Given the description of an element on the screen output the (x, y) to click on. 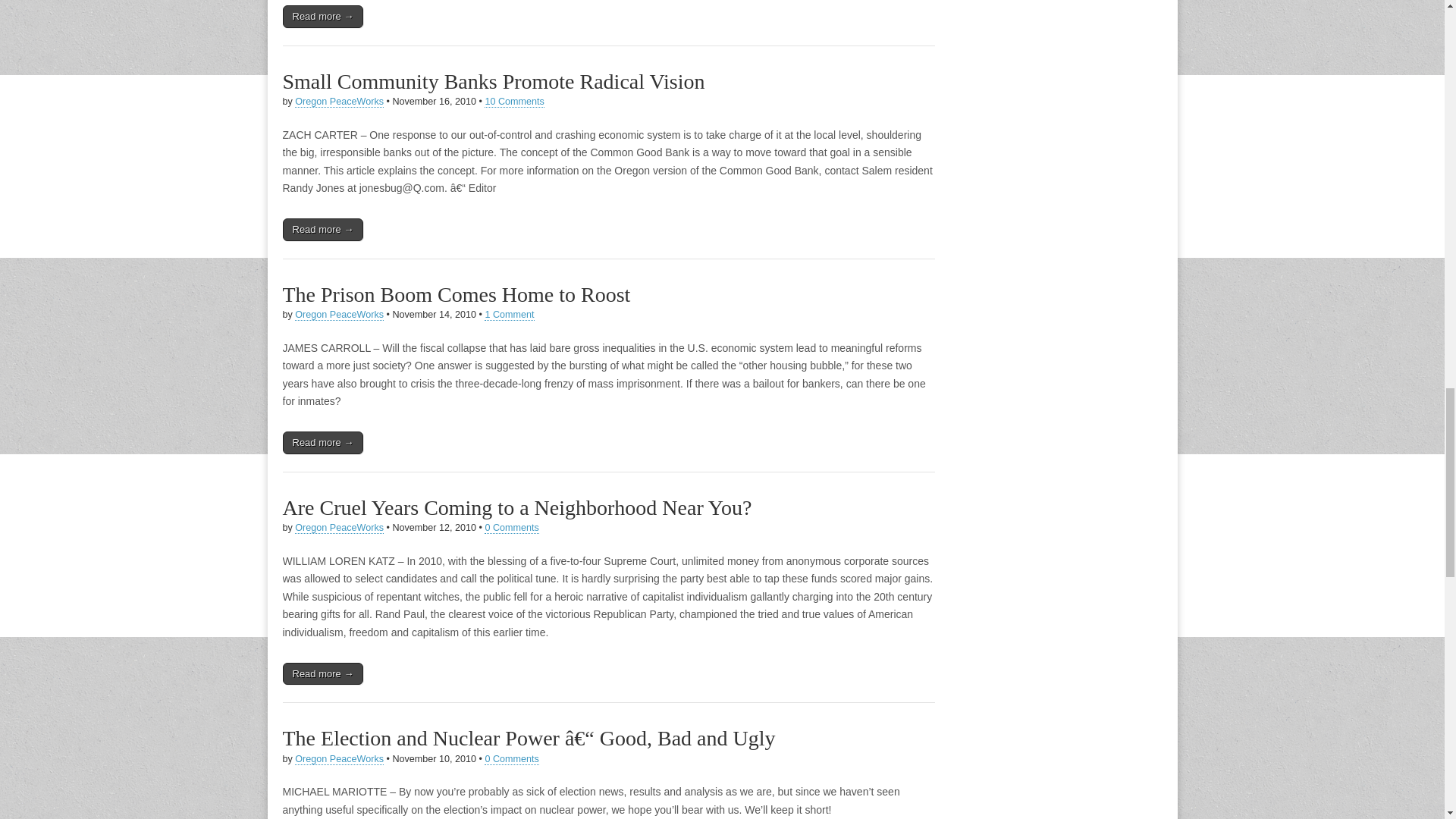
Posts by Oregon PeaceWorks (339, 758)
Posts by Oregon PeaceWorks (339, 315)
Posts by Oregon PeaceWorks (339, 101)
Posts by Oregon PeaceWorks (339, 527)
